Given the description of an element on the screen output the (x, y) to click on. 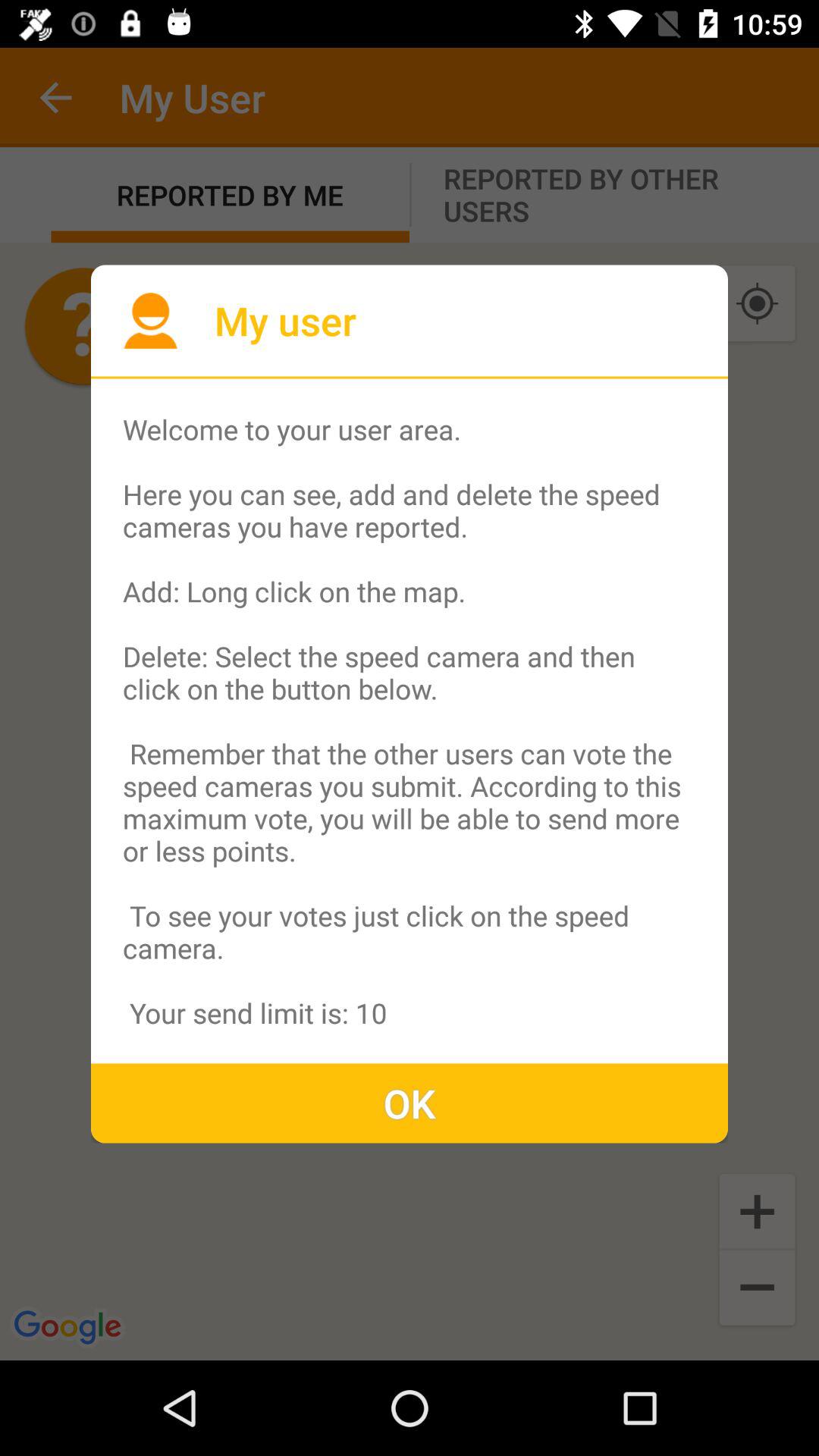
launch the ok item (409, 1103)
